Given the description of an element on the screen output the (x, y) to click on. 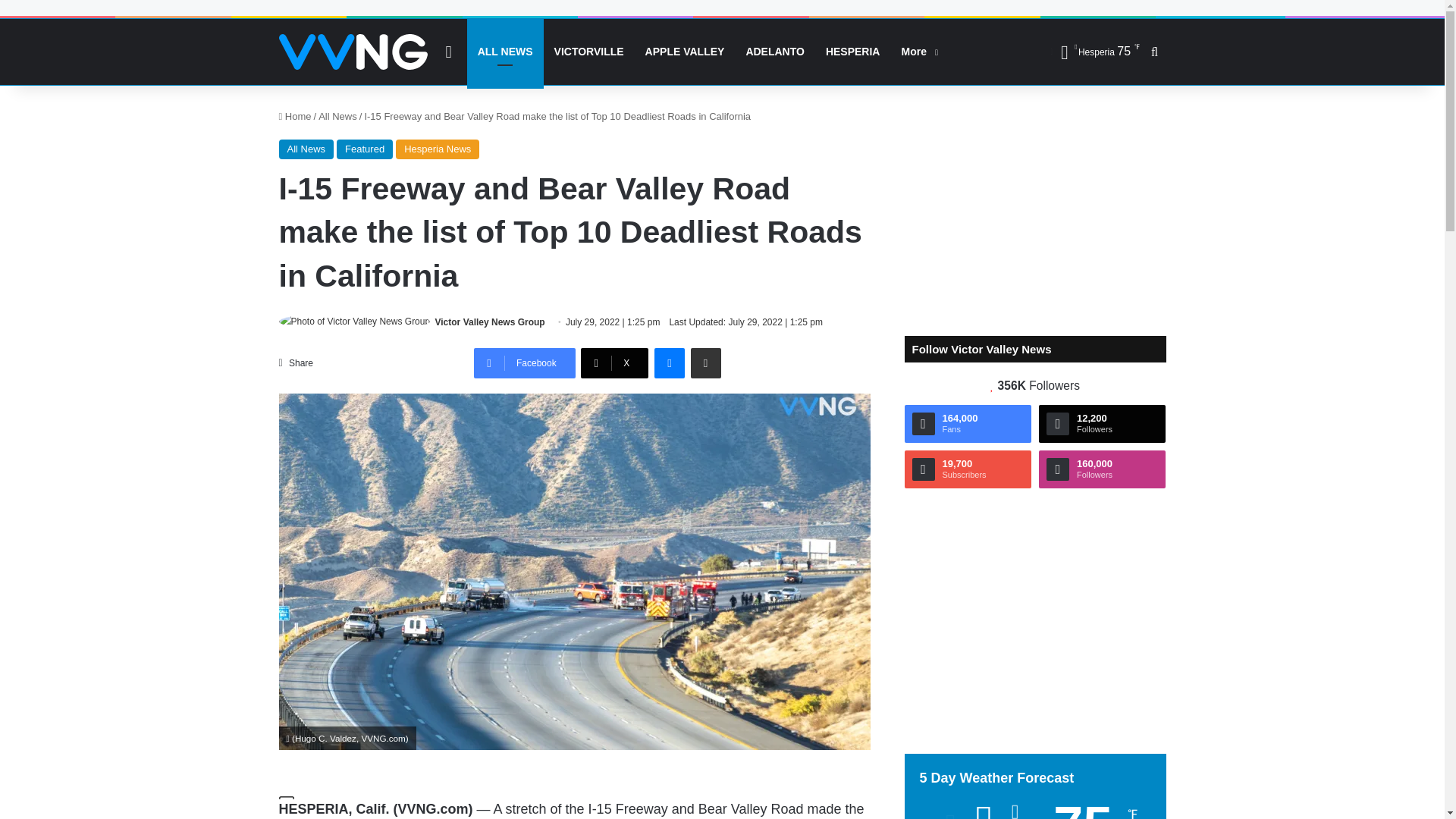
Victor Valley News Group (489, 321)
All News (306, 148)
Messenger (668, 363)
Facebook (524, 363)
ALL NEWS (505, 51)
Share via Email (705, 363)
Home (295, 116)
Featured (364, 148)
Victor Valley News Group (489, 321)
Share via Email (705, 363)
